Given the description of an element on the screen output the (x, y) to click on. 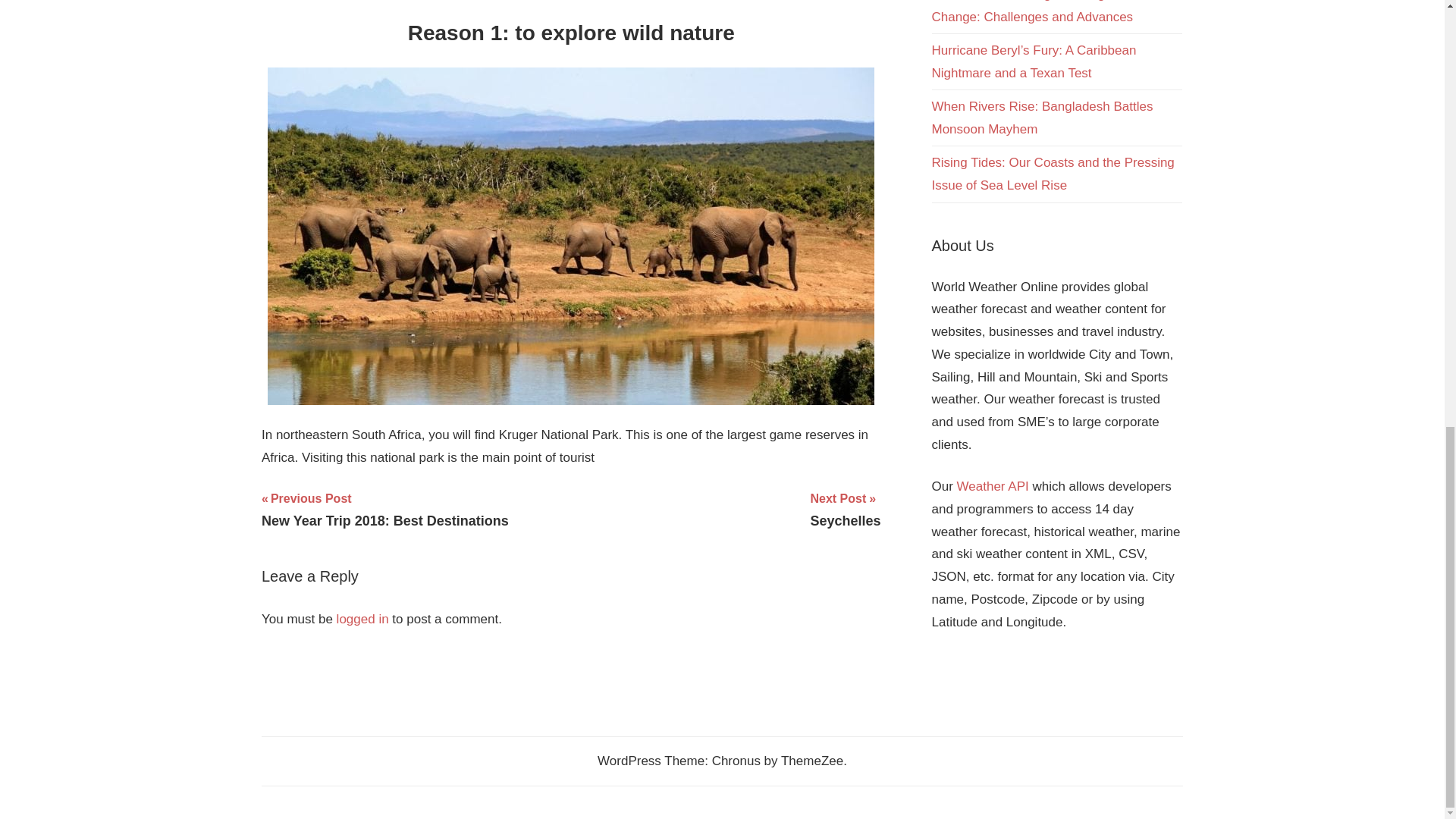
logged in (362, 618)
Weather API (992, 486)
When Rivers Rise: Bangladesh Battles Monsoon Mayhem (385, 509)
